Given the description of an element on the screen output the (x, y) to click on. 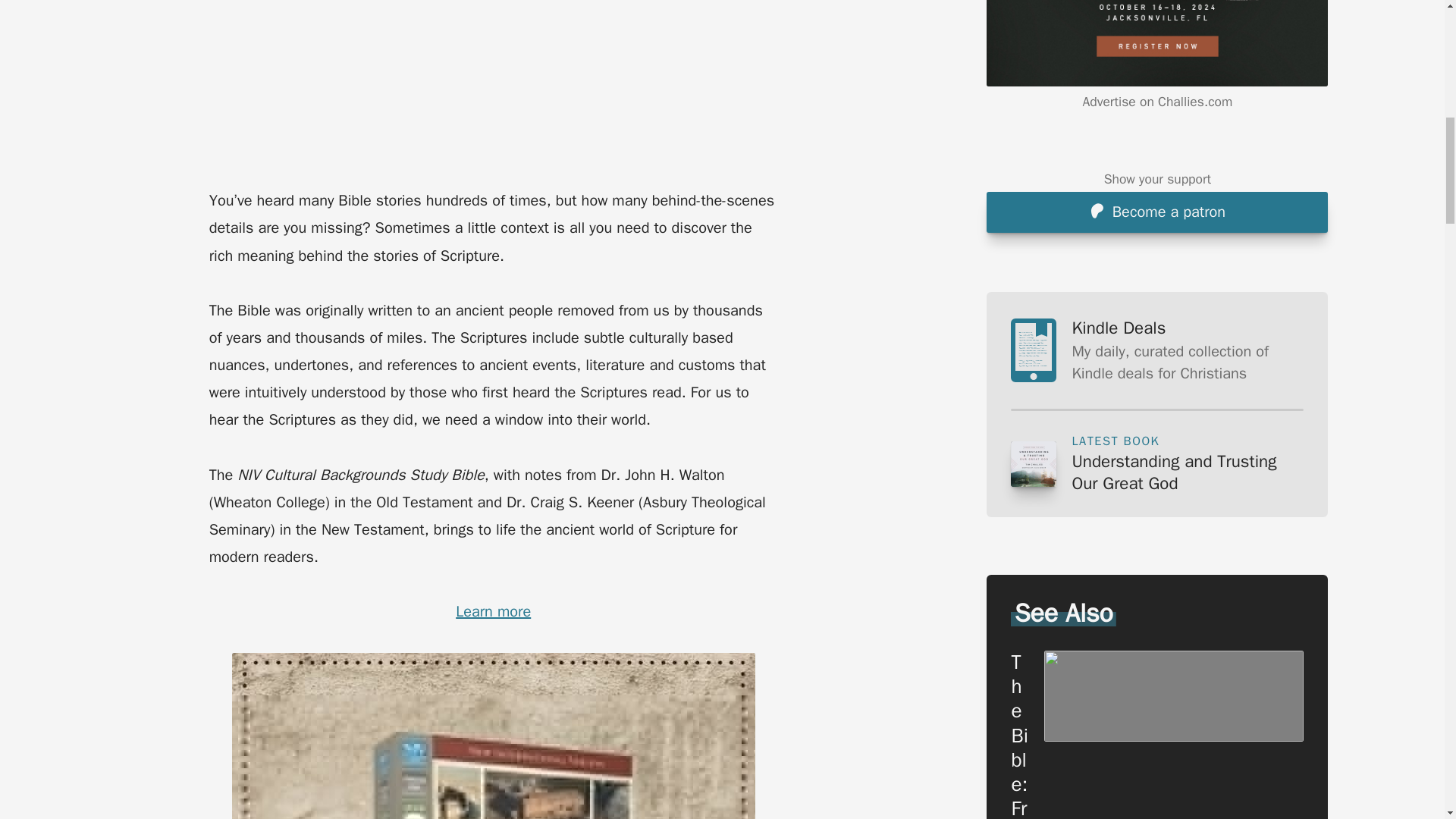
Learn more (493, 610)
Understanding and Trusting Our Great God (1187, 472)
